Given the description of an element on the screen output the (x, y) to click on. 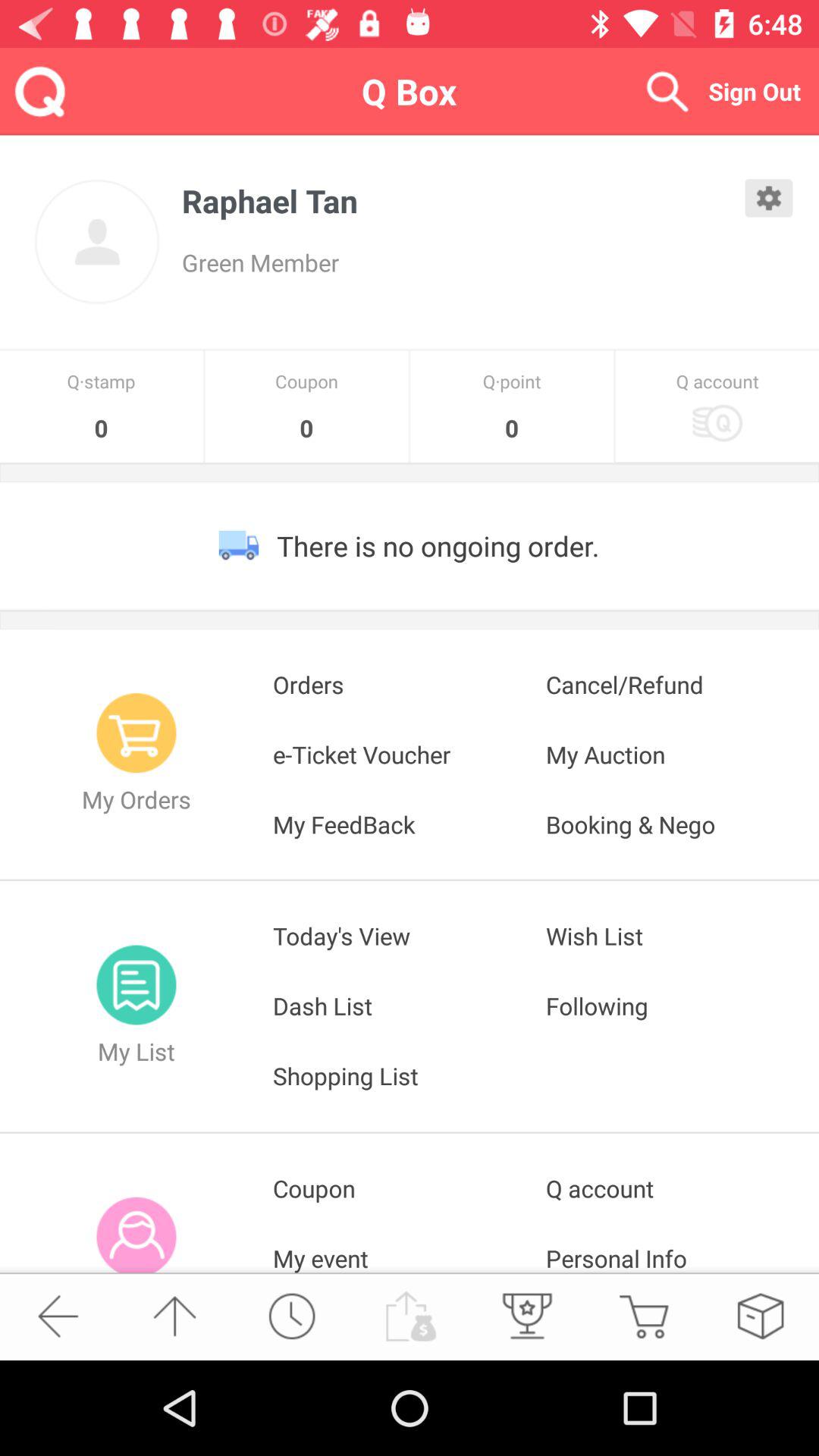
click the icon above the my feedback item (682, 754)
